Given the description of an element on the screen output the (x, y) to click on. 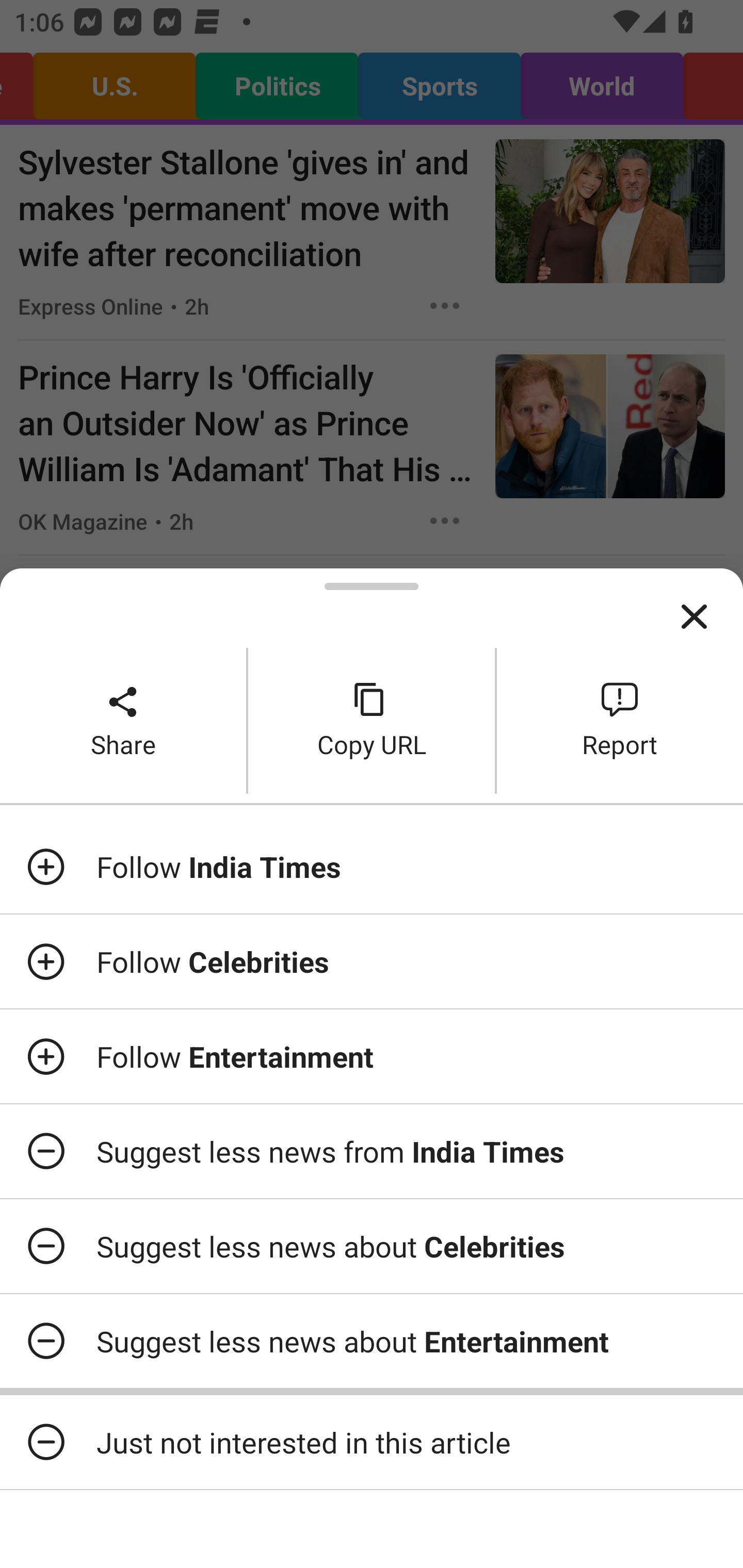
Close (694, 616)
Share (122, 720)
Copy URL (371, 720)
Report (620, 720)
Follow India Times (371, 867)
Follow Celebrities (371, 961)
Follow Entertainment (371, 1056)
Suggest less news from India Times (371, 1150)
Suggest less news about Celebrities (371, 1246)
Suggest less news about Entertainment (371, 1340)
Just not interested in this article (371, 1442)
